Given the description of an element on the screen output the (x, y) to click on. 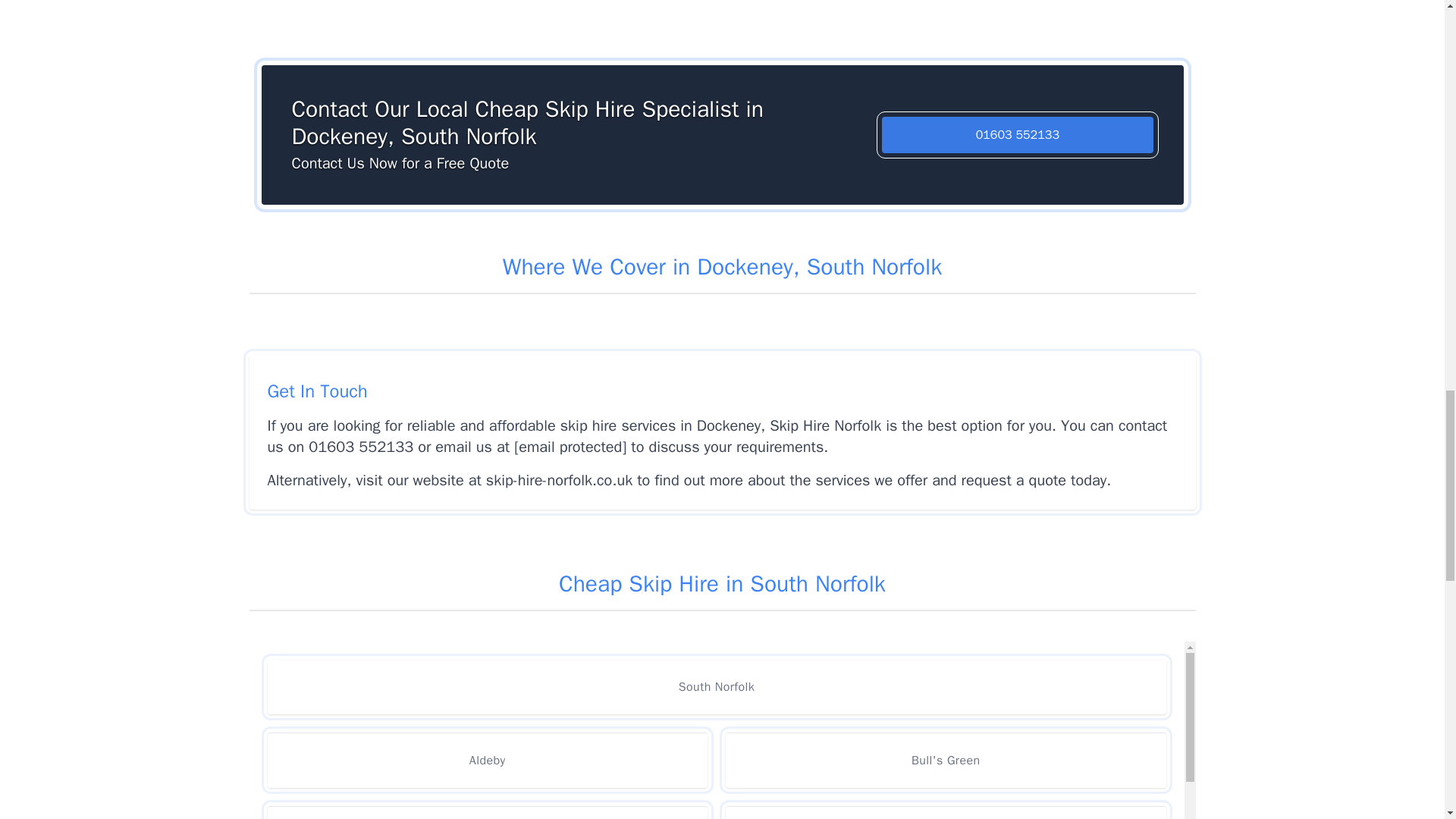
Bull's Green (945, 759)
Aldeby (486, 759)
01603 552133 (1017, 135)
South Norfolk (716, 687)
Burgh St Peter (486, 812)
Dunburgh (945, 812)
